Given the description of an element on the screen output the (x, y) to click on. 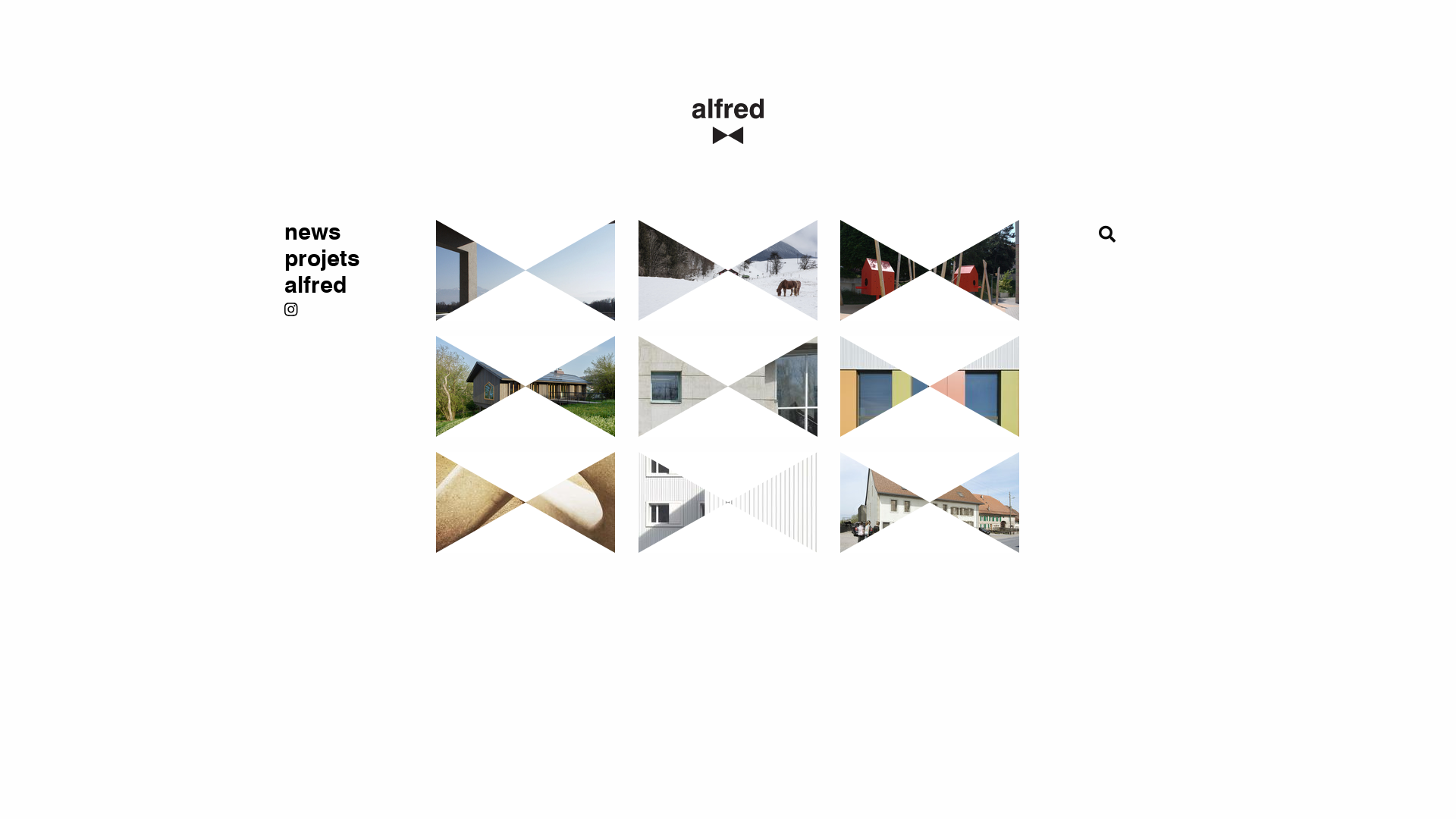
projets Element type: text (348, 259)
news Element type: text (348, 232)
alfred Element type: text (348, 286)
